Given the description of an element on the screen output the (x, y) to click on. 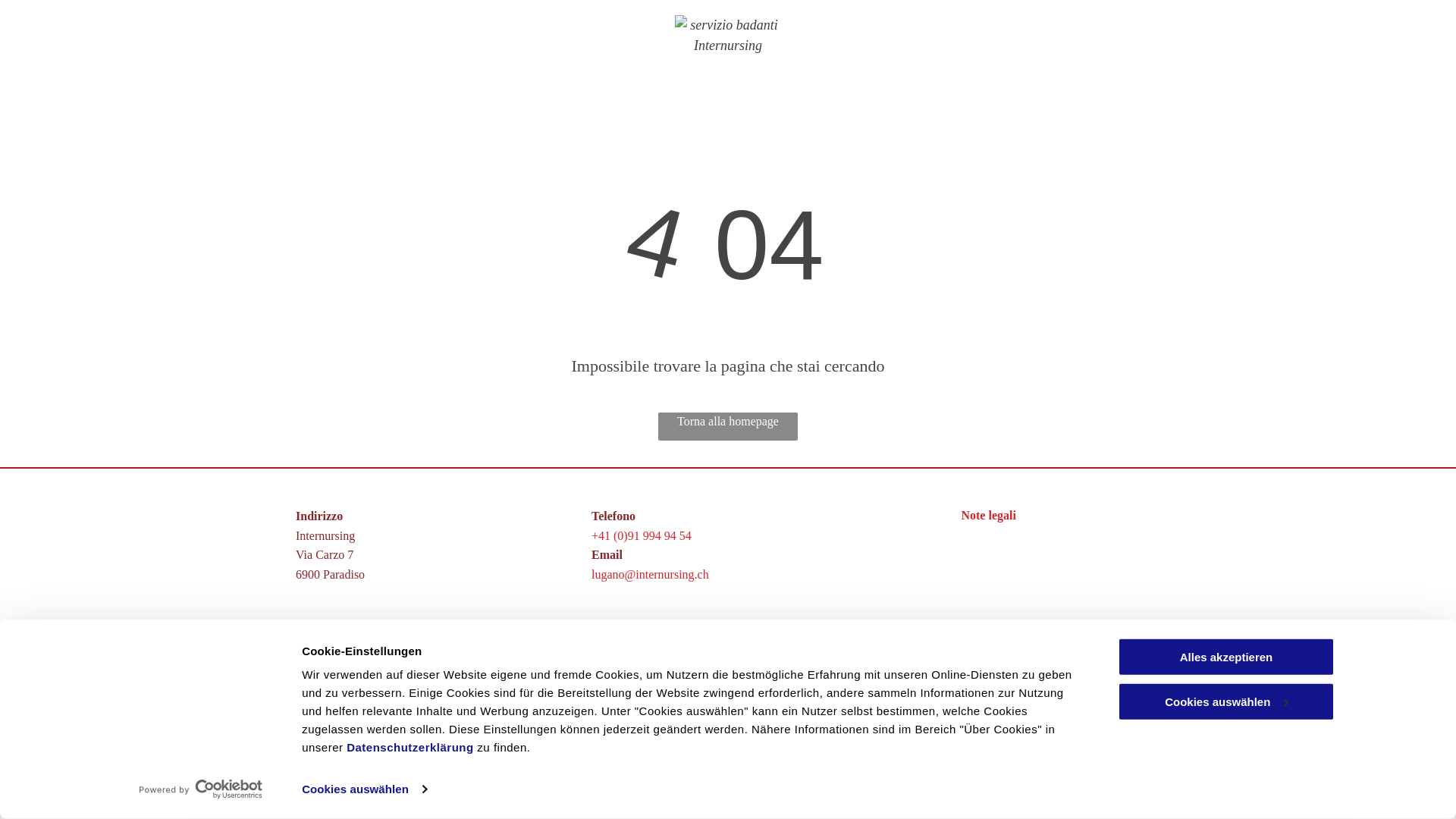
Informativa sulla protezione dei dati Element type: text (383, 714)
lugano@internursing.ch Element type: text (650, 573)
+41 (0)91 994 94 54 Element type: text (641, 535)
Note legali Element type: text (987, 514)
www.internursing.ch Element type: text (648, 667)
Torna alla homepage Element type: text (727, 426)
Alles akzeptieren Element type: text (1225, 656)
